Given the description of an element on the screen output the (x, y) to click on. 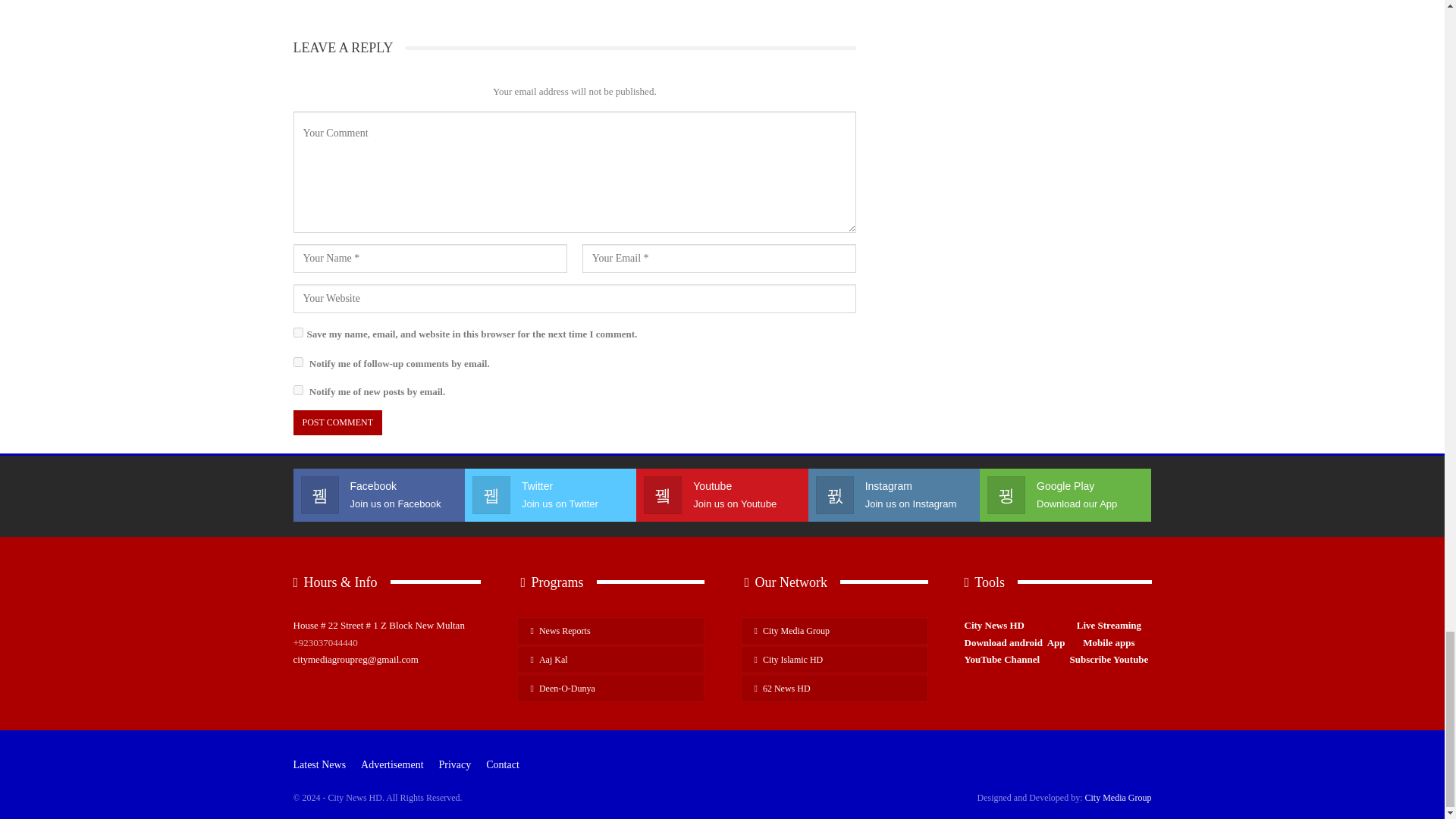
yes (297, 332)
subscribe (297, 389)
subscribe (297, 361)
Post Comment (336, 422)
